Given the description of an element on the screen output the (x, y) to click on. 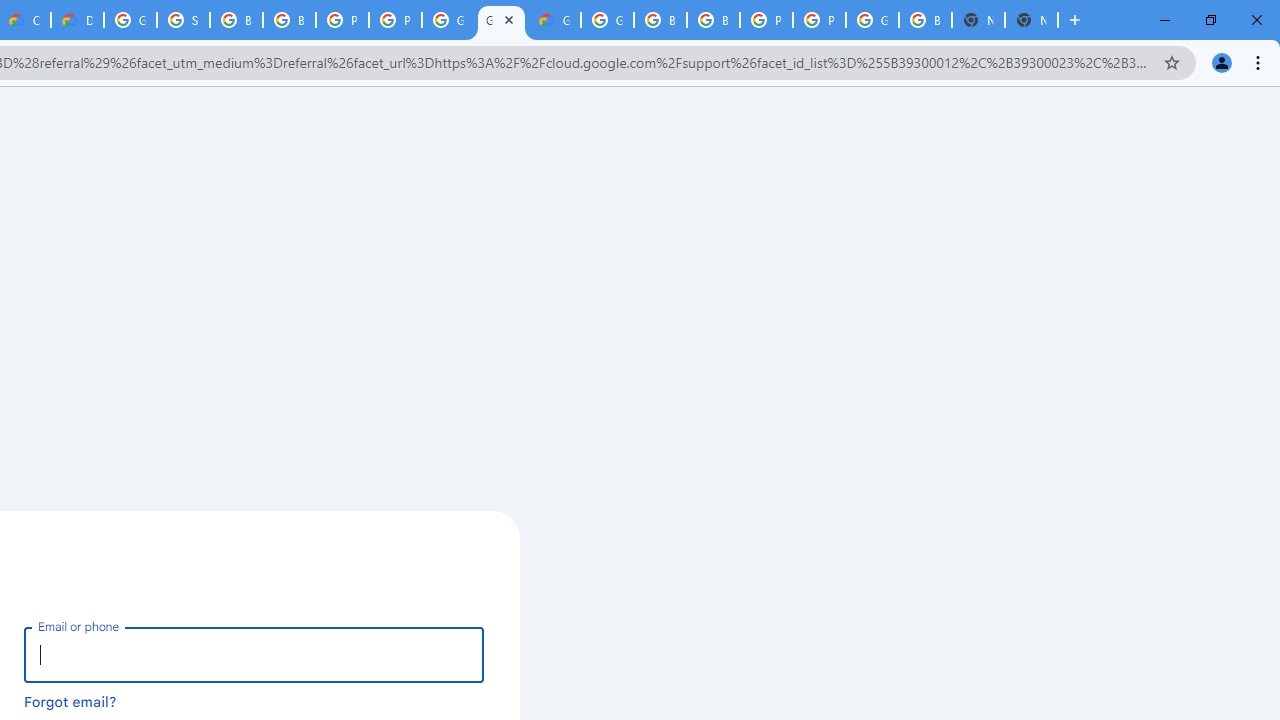
Sign in - Google Accounts (183, 20)
Google Cloud Platform (448, 20)
Google Cloud Estimate Summary (554, 20)
Browse Chrome as a guest - Computer - Google Chrome Help (235, 20)
Google Cloud Platform (607, 20)
Google Cloud Platform (501, 20)
